Given the description of an element on the screen output the (x, y) to click on. 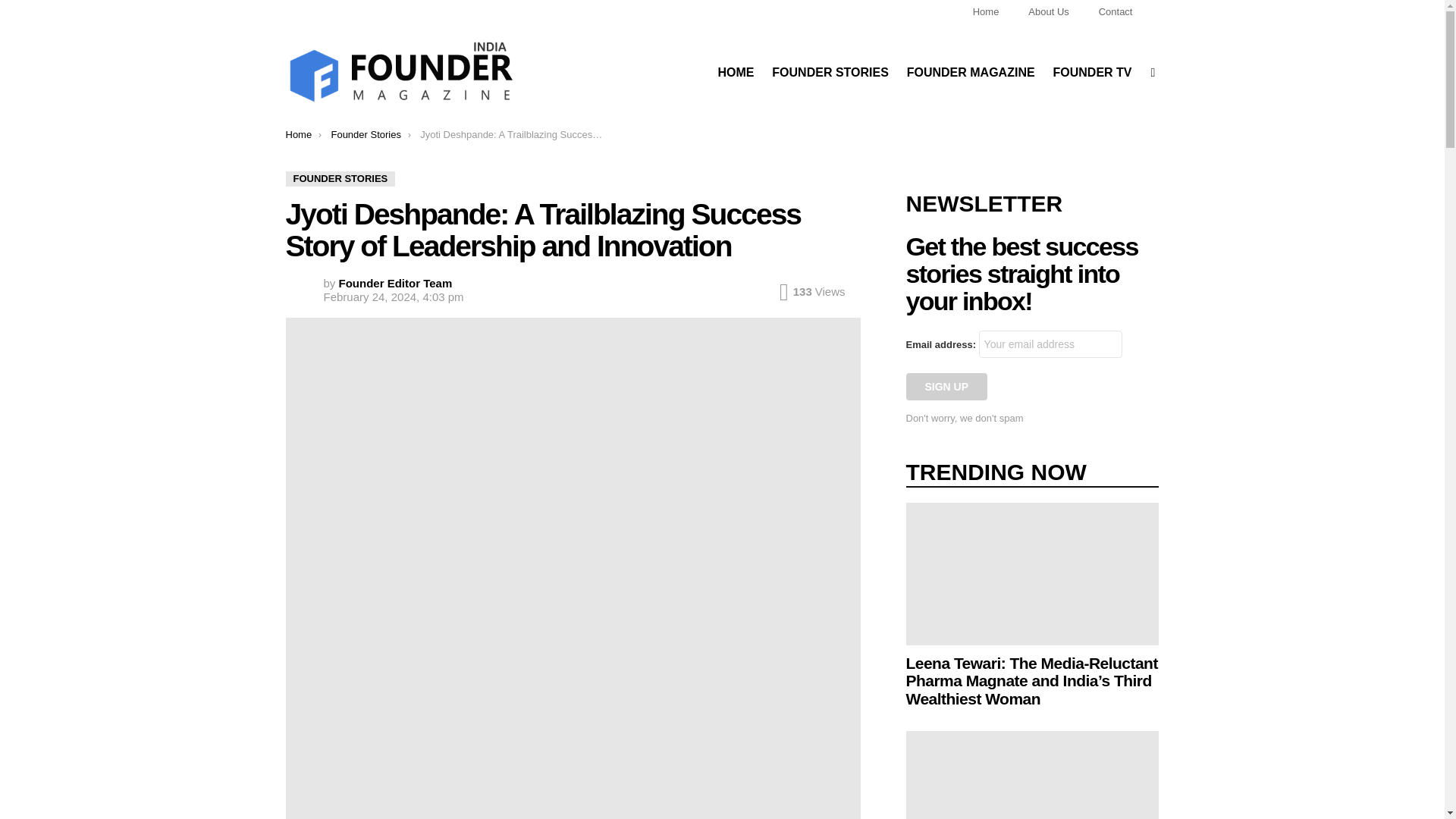
FOUNDER MAGAZINE (970, 72)
Sign up (946, 386)
Home (298, 134)
Home (985, 12)
About Us (1047, 12)
Contact (1115, 12)
FOUNDER TV (1091, 72)
FOUNDER STORIES (339, 178)
FOUNDER STORIES (830, 72)
HOME (735, 72)
